Given the description of an element on the screen output the (x, y) to click on. 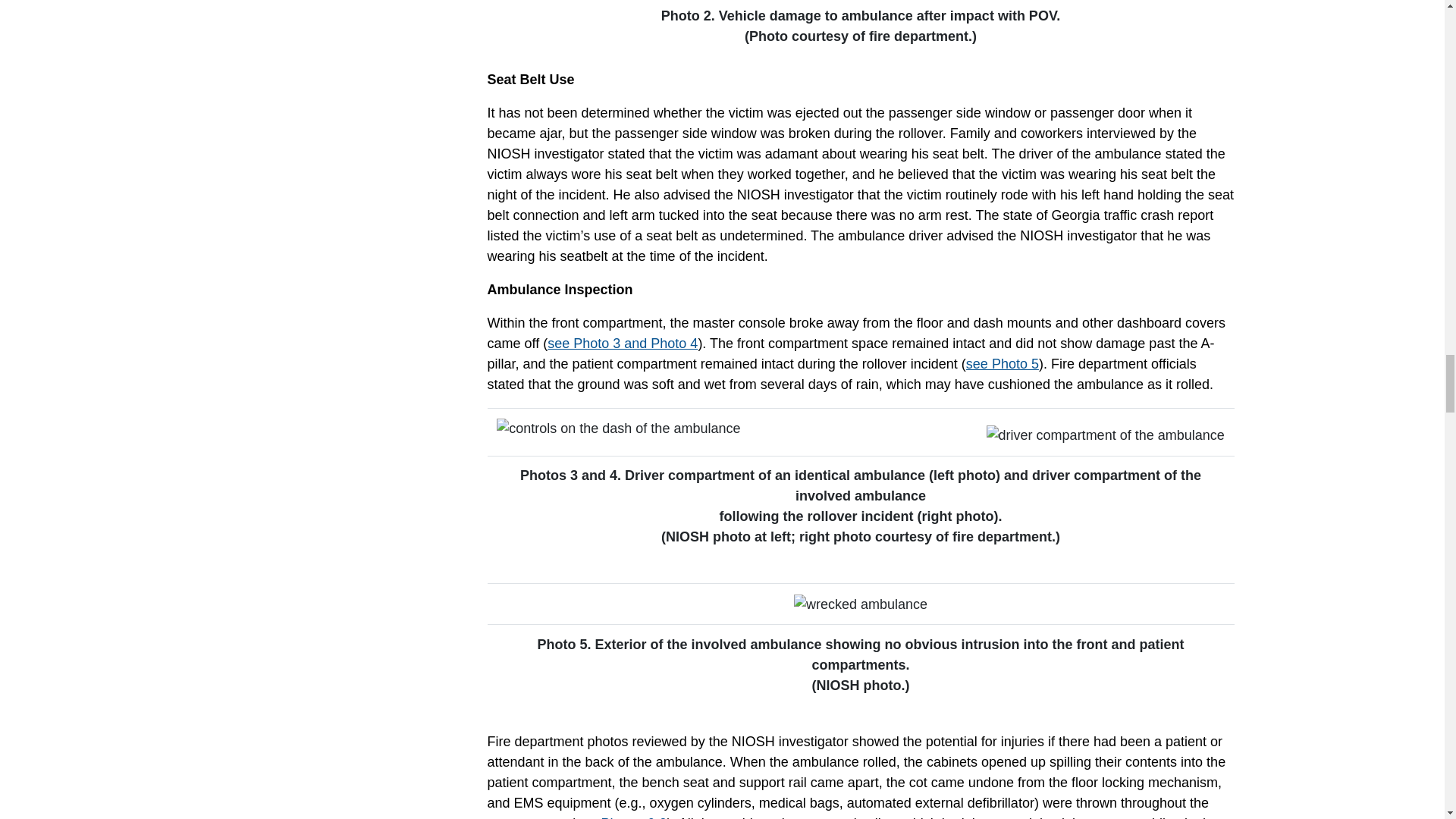
see Photos 6-9 (620, 817)
see Photo 5 (1002, 363)
see Photo 3 and Photo 4 (622, 343)
